Given the description of an element on the screen output the (x, y) to click on. 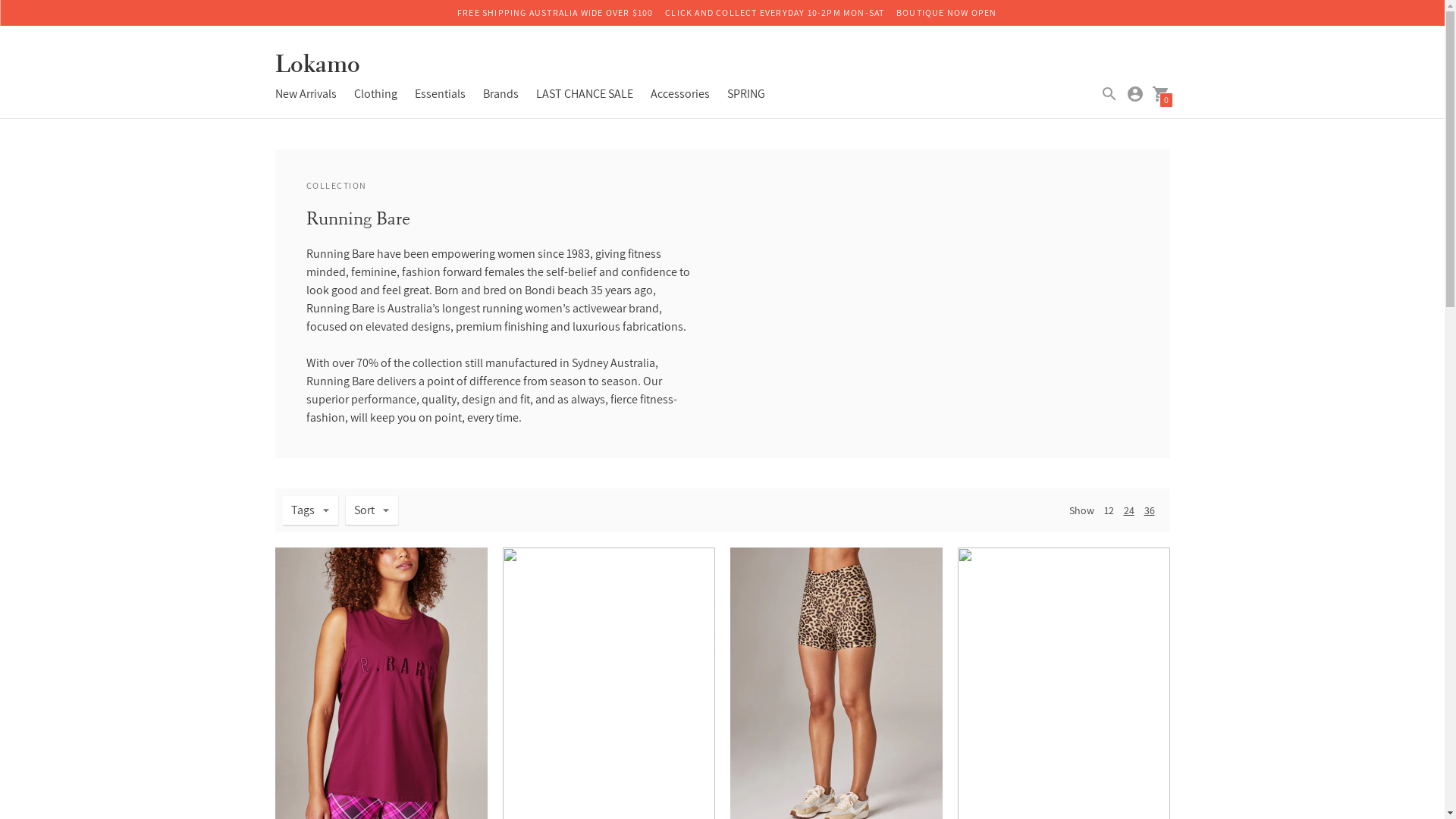
0 Element type: text (1160, 92)
Essentials Element type: text (439, 93)
Brands Element type: text (499, 93)
SPRING Element type: text (745, 93)
36 Element type: text (1148, 510)
12 Element type: text (1108, 510)
Sort Element type: text (371, 509)
Accessories Element type: text (679, 93)
Clothing Element type: text (374, 93)
LAST CHANCE SALE Element type: text (583, 93)
New Arrivals Element type: text (304, 93)
Tags Element type: text (309, 509)
24 Element type: text (1128, 510)
Lokamo Element type: text (316, 67)
